Given the description of an element on the screen output the (x, y) to click on. 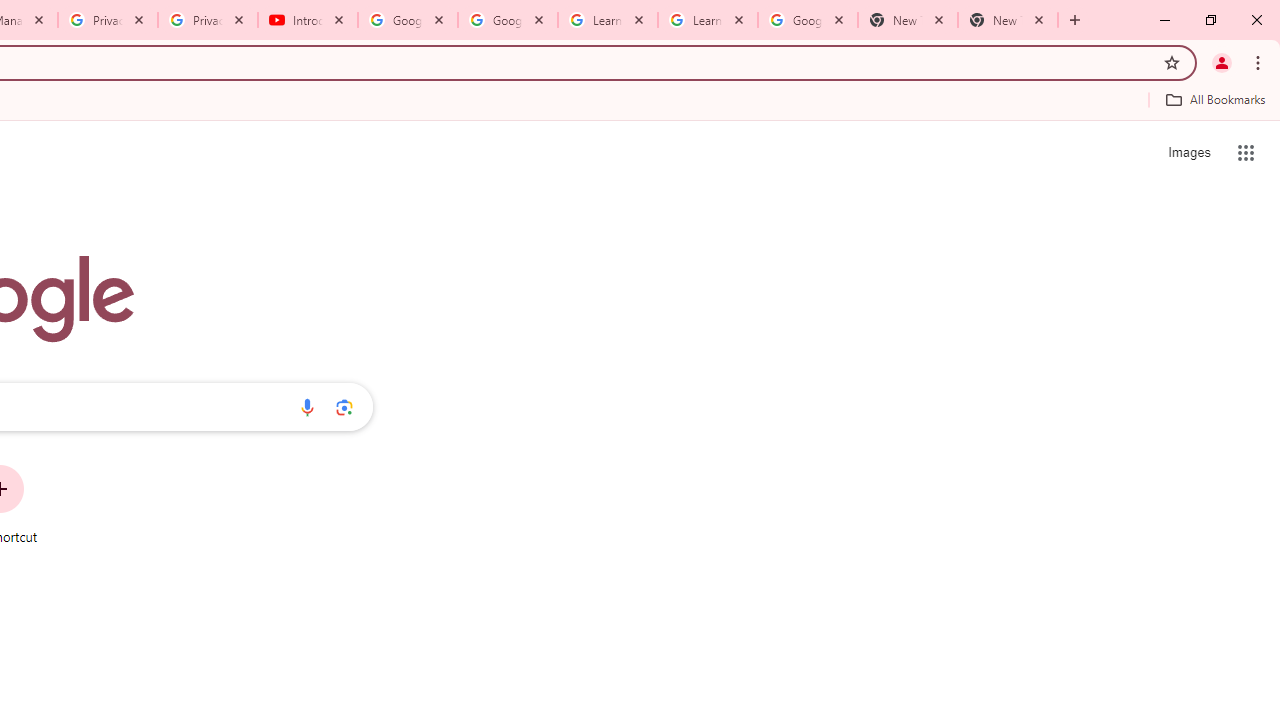
New Tab (907, 20)
New Tab (1007, 20)
Google Account Help (508, 20)
